Given the description of an element on the screen output the (x, y) to click on. 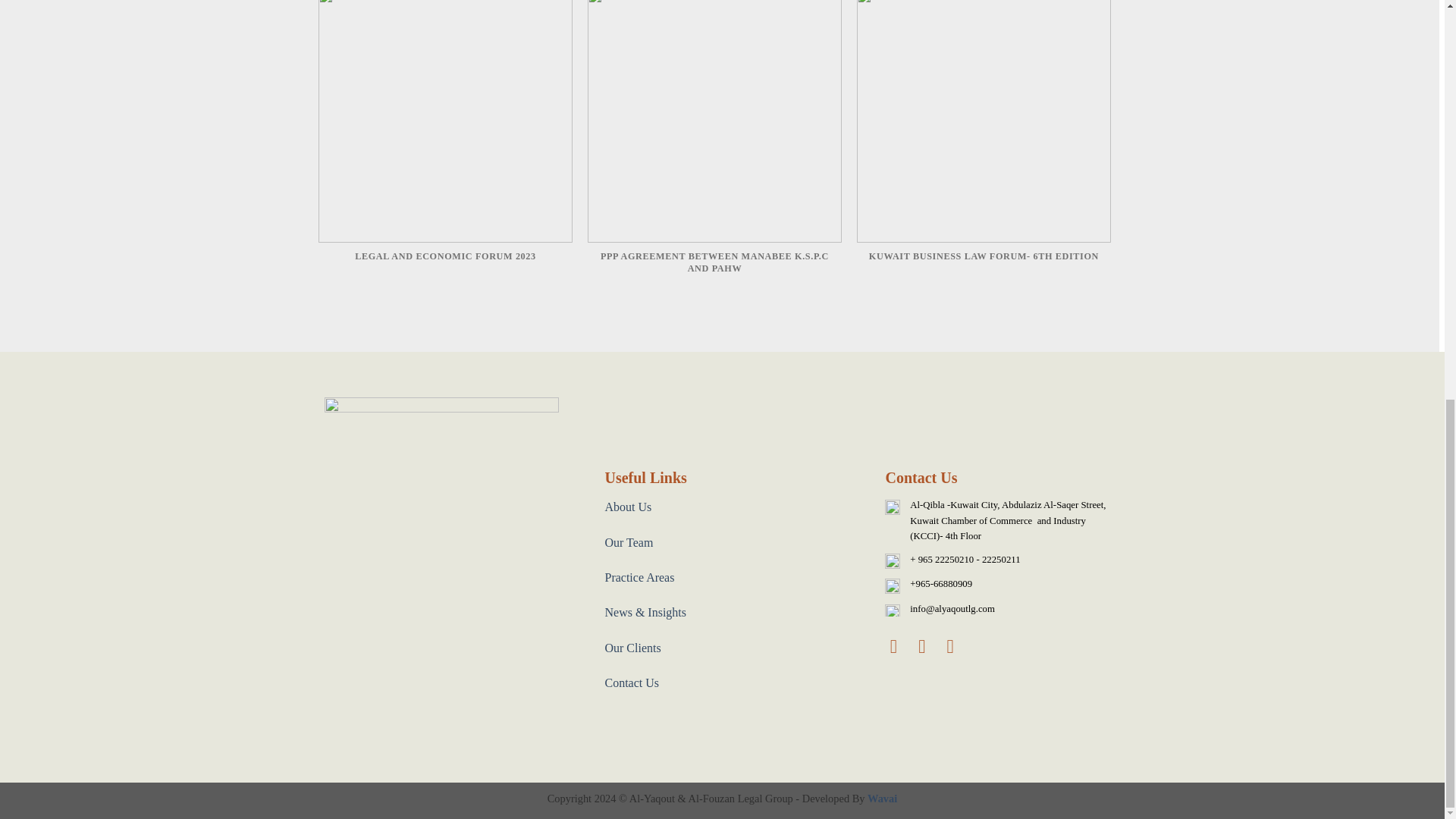
KUWAIT BUSINESS LAW FORUM- 6TH EDITION (983, 140)
Our Team (628, 542)
Follow on LinkedIn (956, 646)
About Us (627, 506)
Follow on Instagram (898, 646)
Wavai (881, 798)
Follow on Twitter (927, 646)
Contact Us (631, 682)
LEGAL AND ECONOMIC FORUM 2023 (445, 140)
Practice Areas (639, 576)
Our Clients (632, 647)
